Given the description of an element on the screen output the (x, y) to click on. 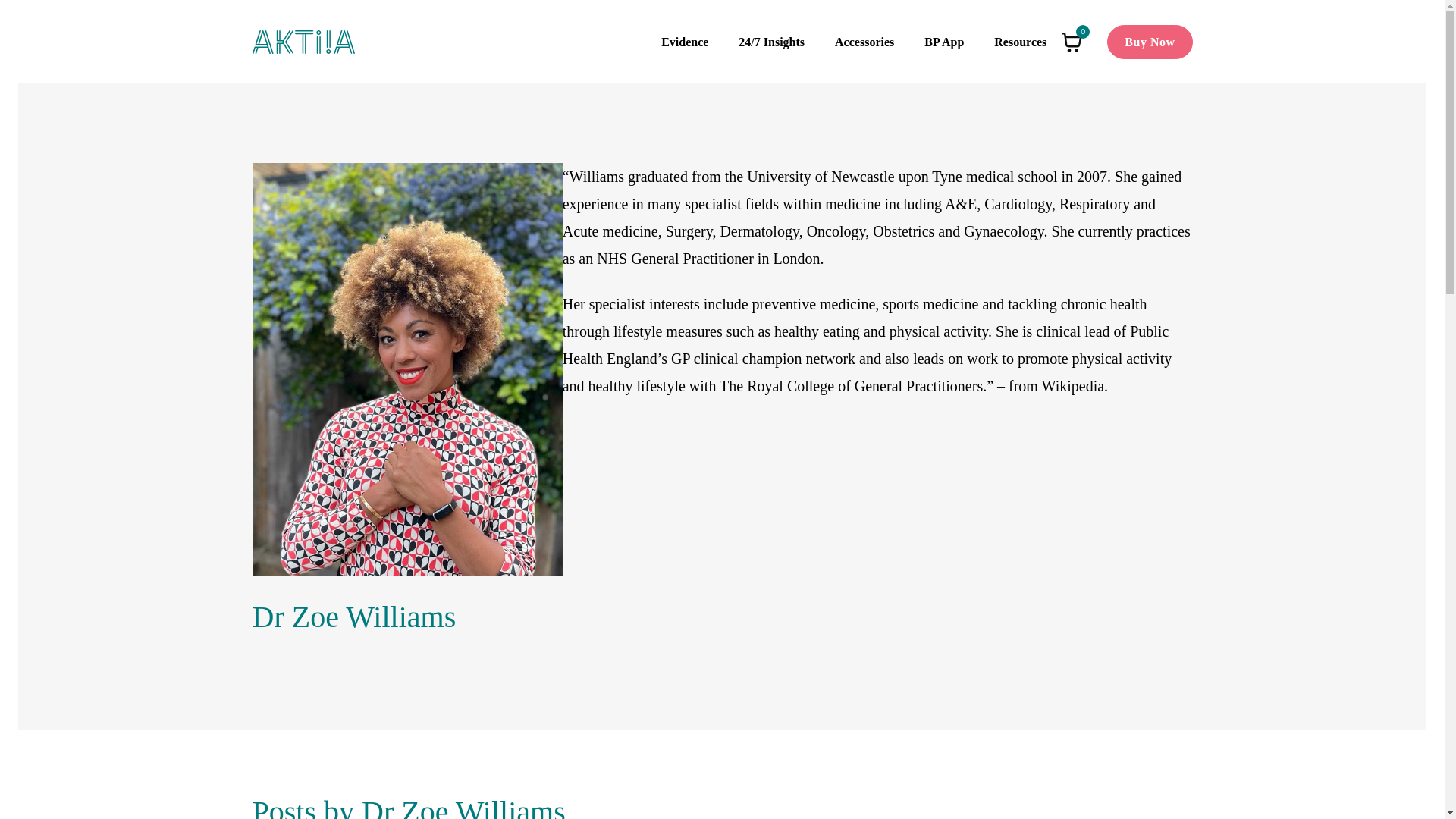
Accessories (864, 42)
BP App (944, 42)
Evidence (684, 42)
Wikipedia (1073, 385)
0 (1072, 42)
Resources (1019, 42)
Buy Now (1149, 41)
